Given the description of an element on the screen output the (x, y) to click on. 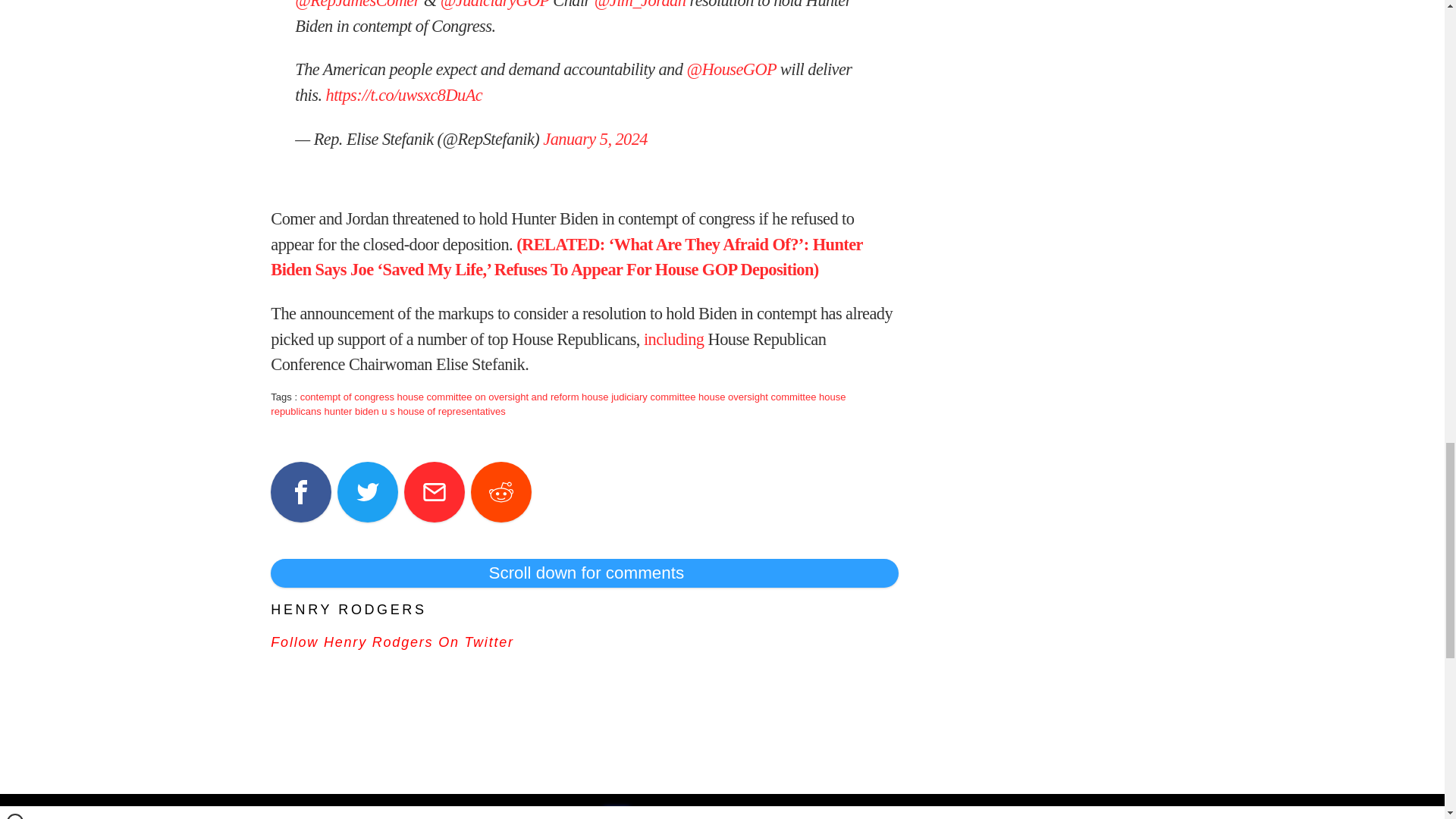
To home page (727, 809)
Scroll down for comments (584, 573)
